Given the description of an element on the screen output the (x, y) to click on. 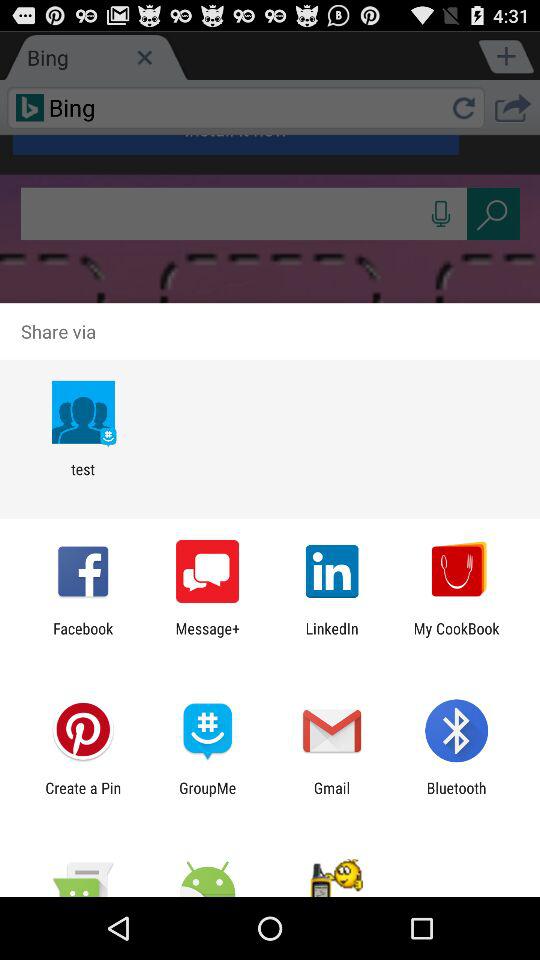
select bluetooth item (456, 796)
